Given the description of an element on the screen output the (x, y) to click on. 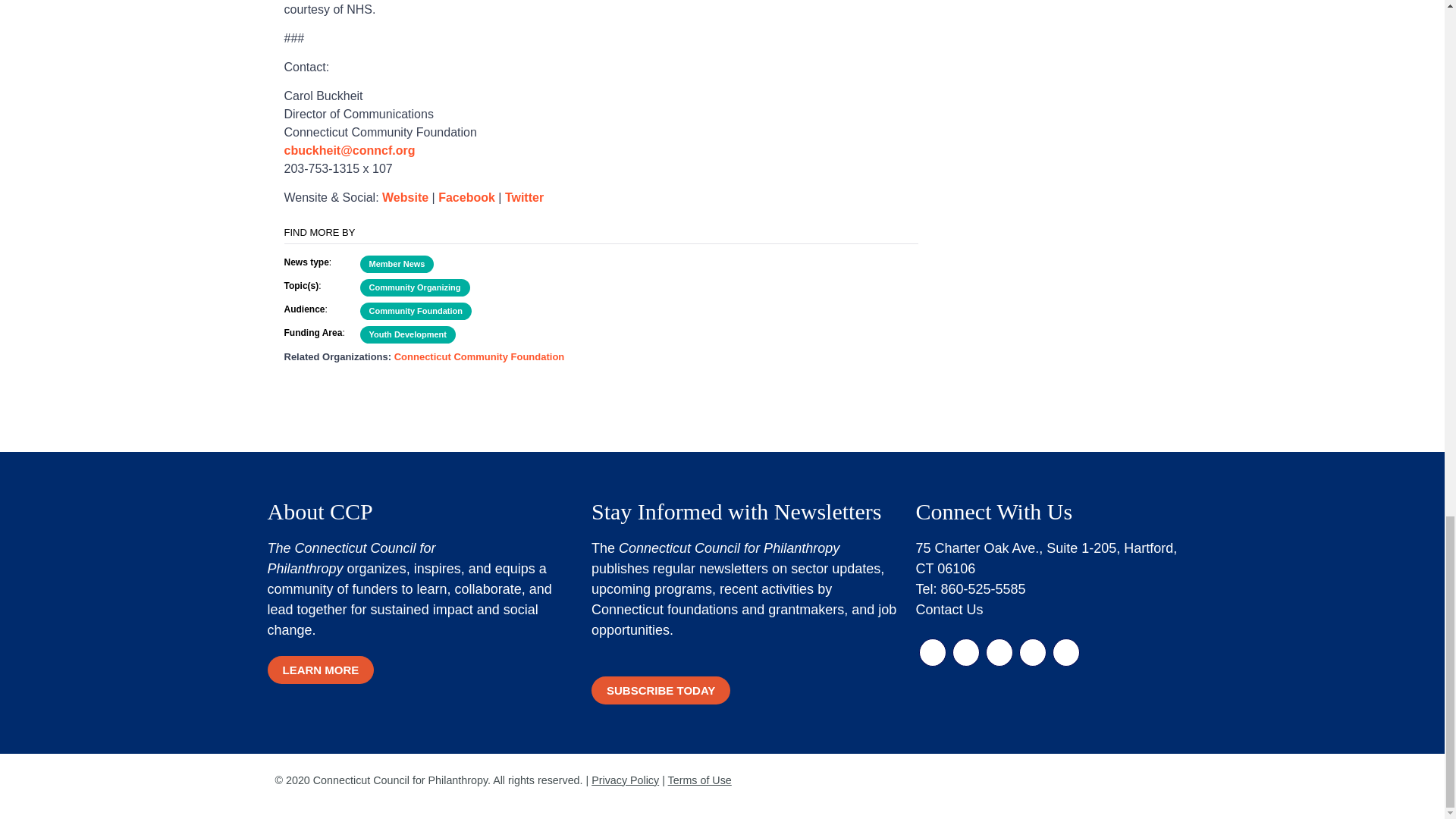
Follow us on LinkedIn (999, 652)
Community Foundation (414, 311)
Community Organizing (413, 287)
Follow us on Twitter (965, 652)
Facebook (466, 196)
Twitter (524, 196)
Follow us on Facebook (932, 652)
Follow us on YouTube (1066, 652)
Member News (396, 263)
Follow us on Flickr (1032, 652)
Website (404, 196)
